Given the description of an element on the screen output the (x, y) to click on. 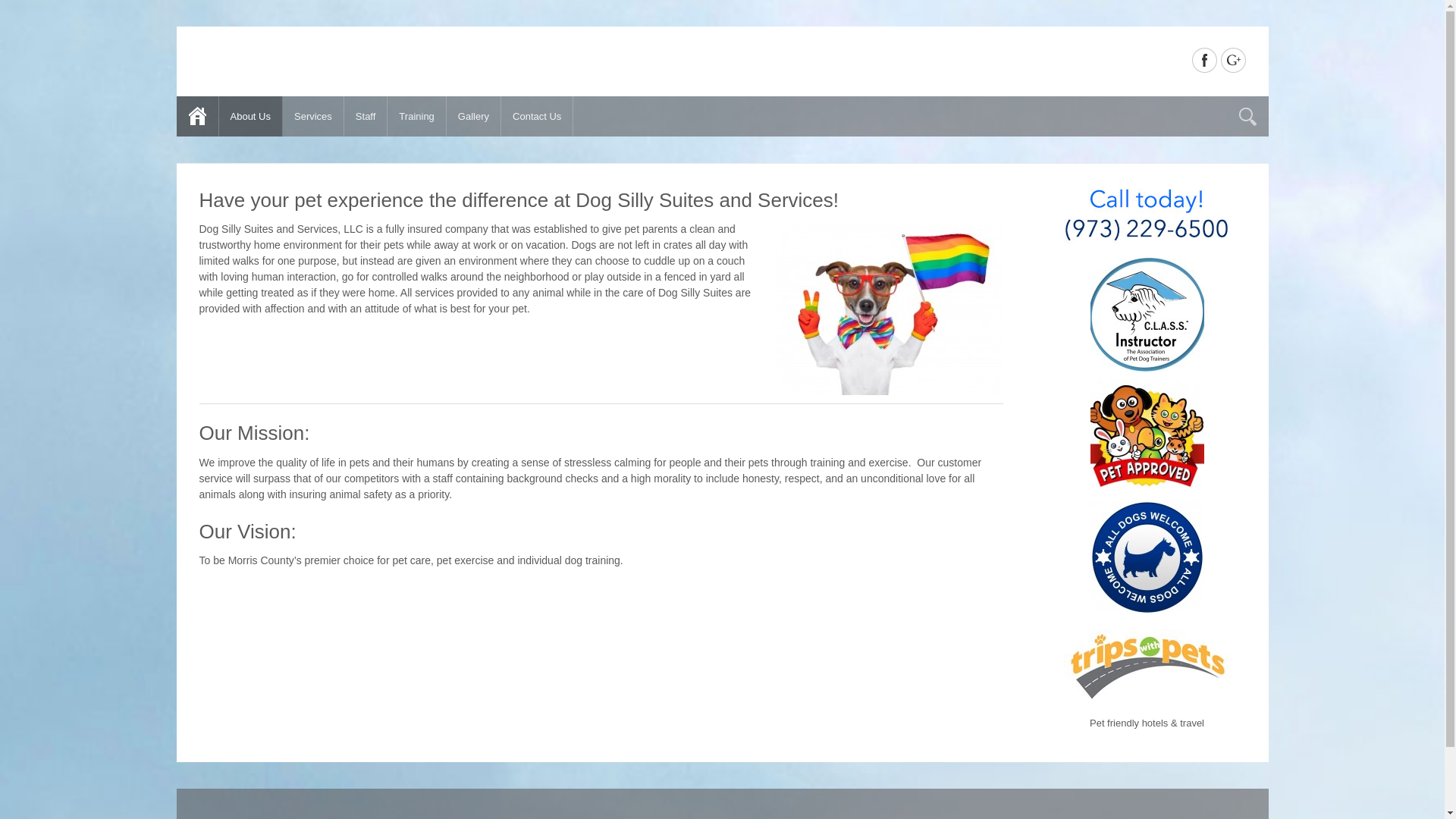
Training (416, 116)
About Us (250, 116)
Staff (365, 116)
Contact Us (536, 116)
Services (312, 116)
Gallery (473, 116)
